Given the description of an element on the screen output the (x, y) to click on. 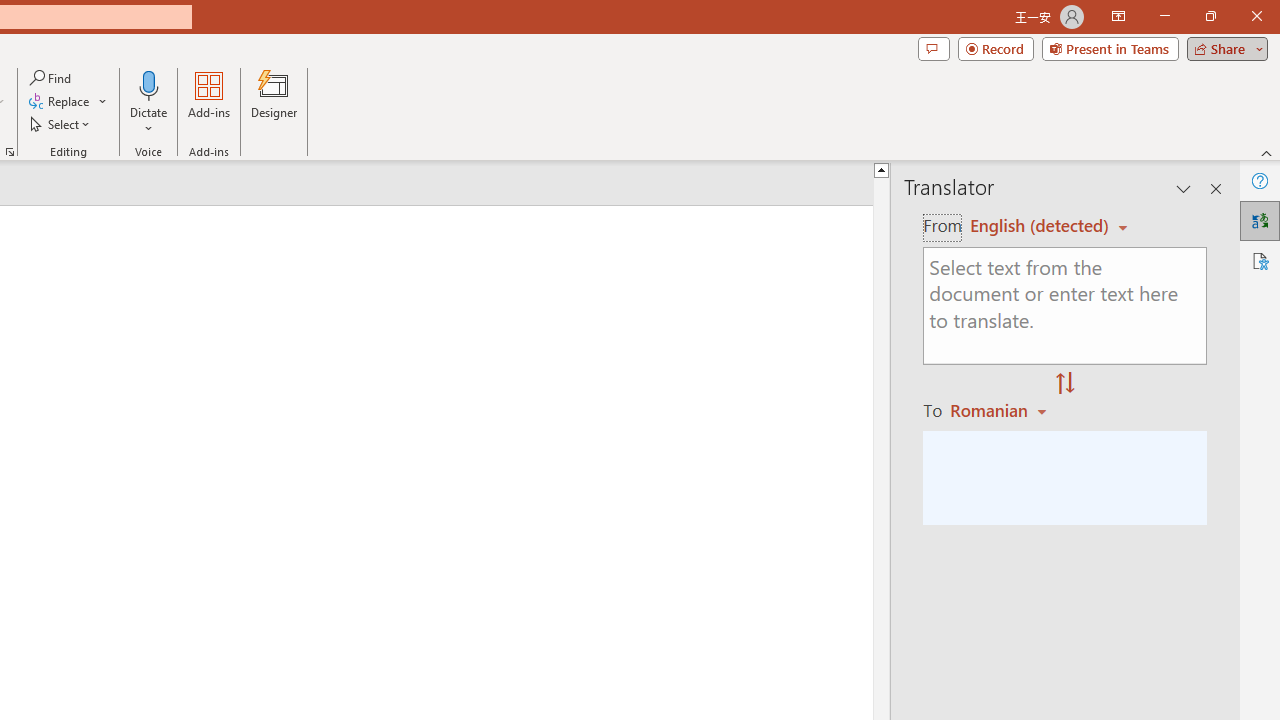
Czech (detected) (1039, 225)
Romanian (1001, 409)
